Given the description of an element on the screen output the (x, y) to click on. 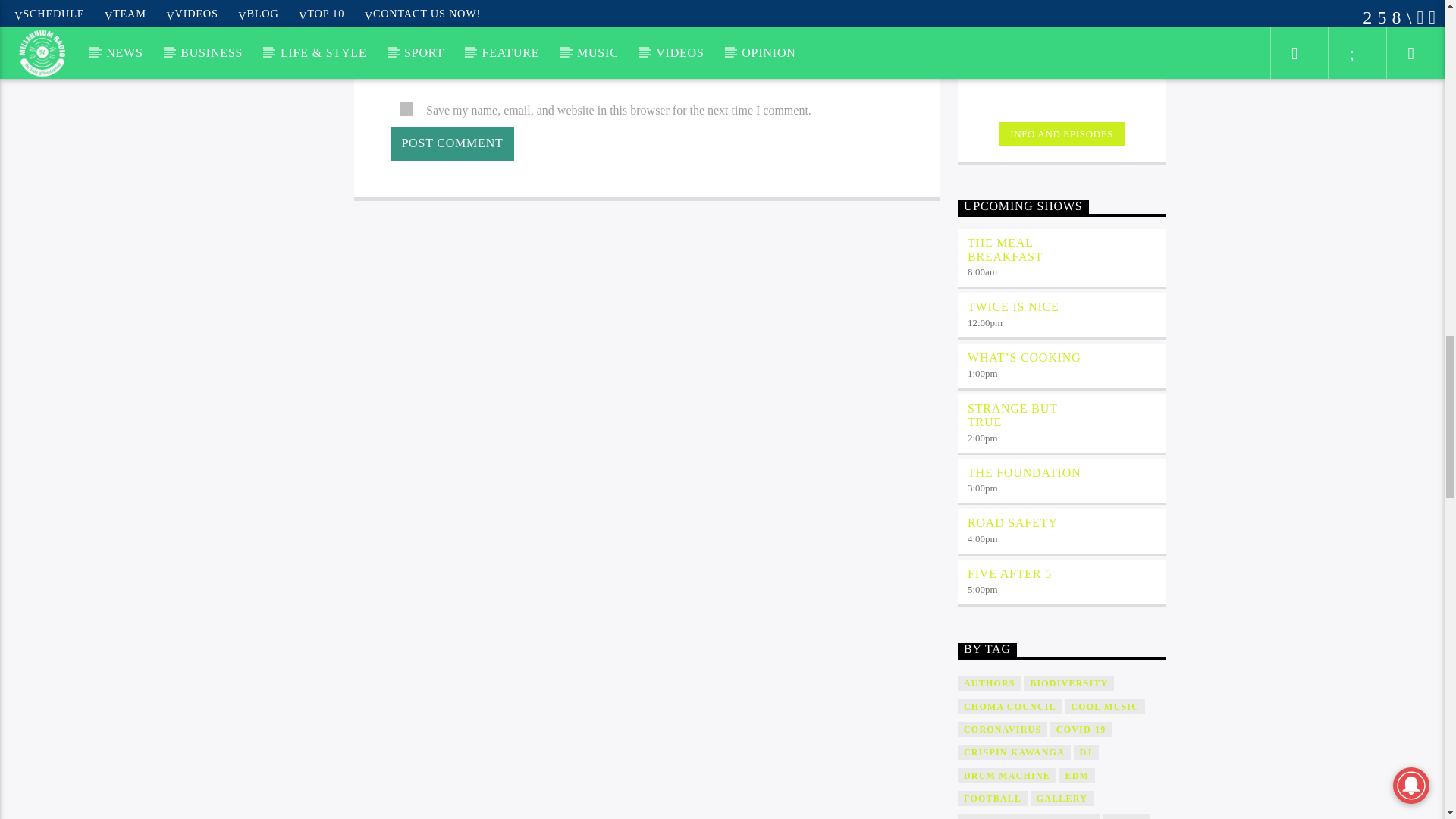
Post Comment (451, 143)
